Given the description of an element on the screen output the (x, y) to click on. 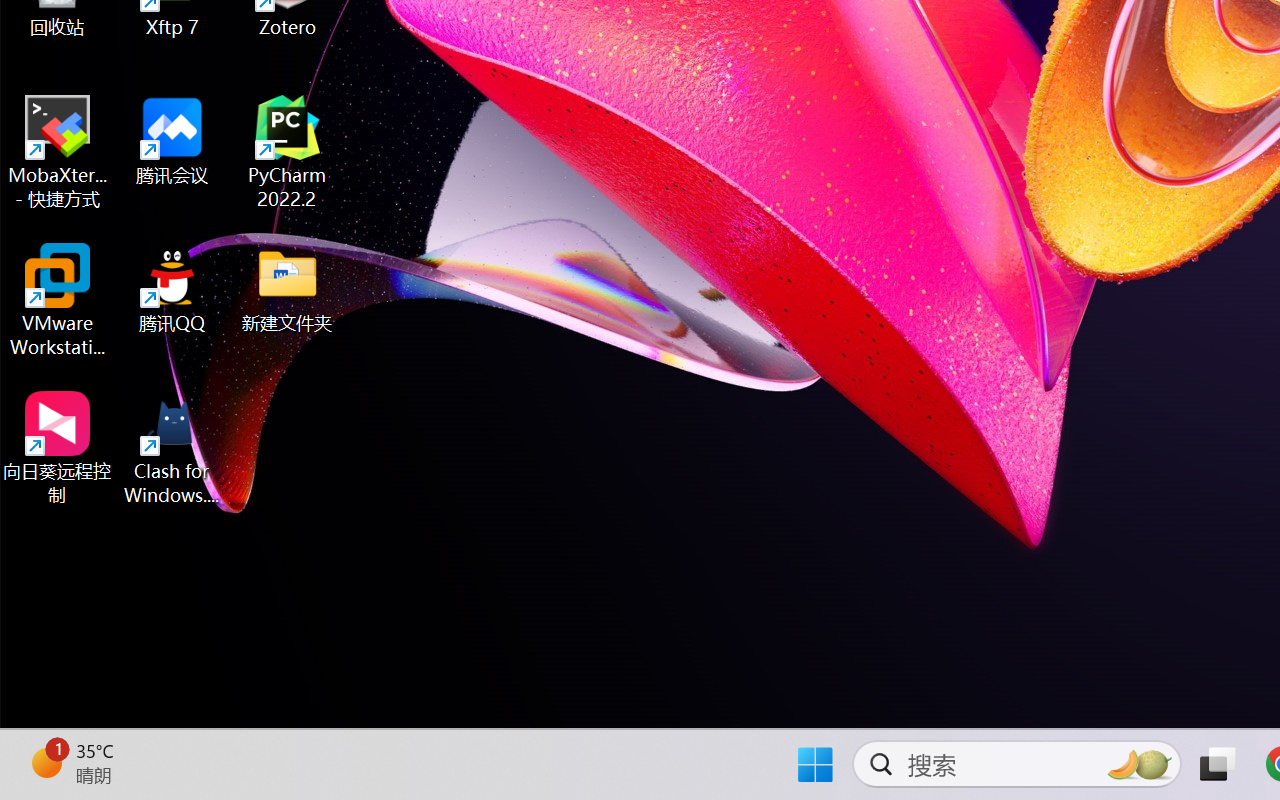
PyCharm 2022.2 (287, 152)
VMware Workstation Pro (57, 300)
